Given the description of an element on the screen output the (x, y) to click on. 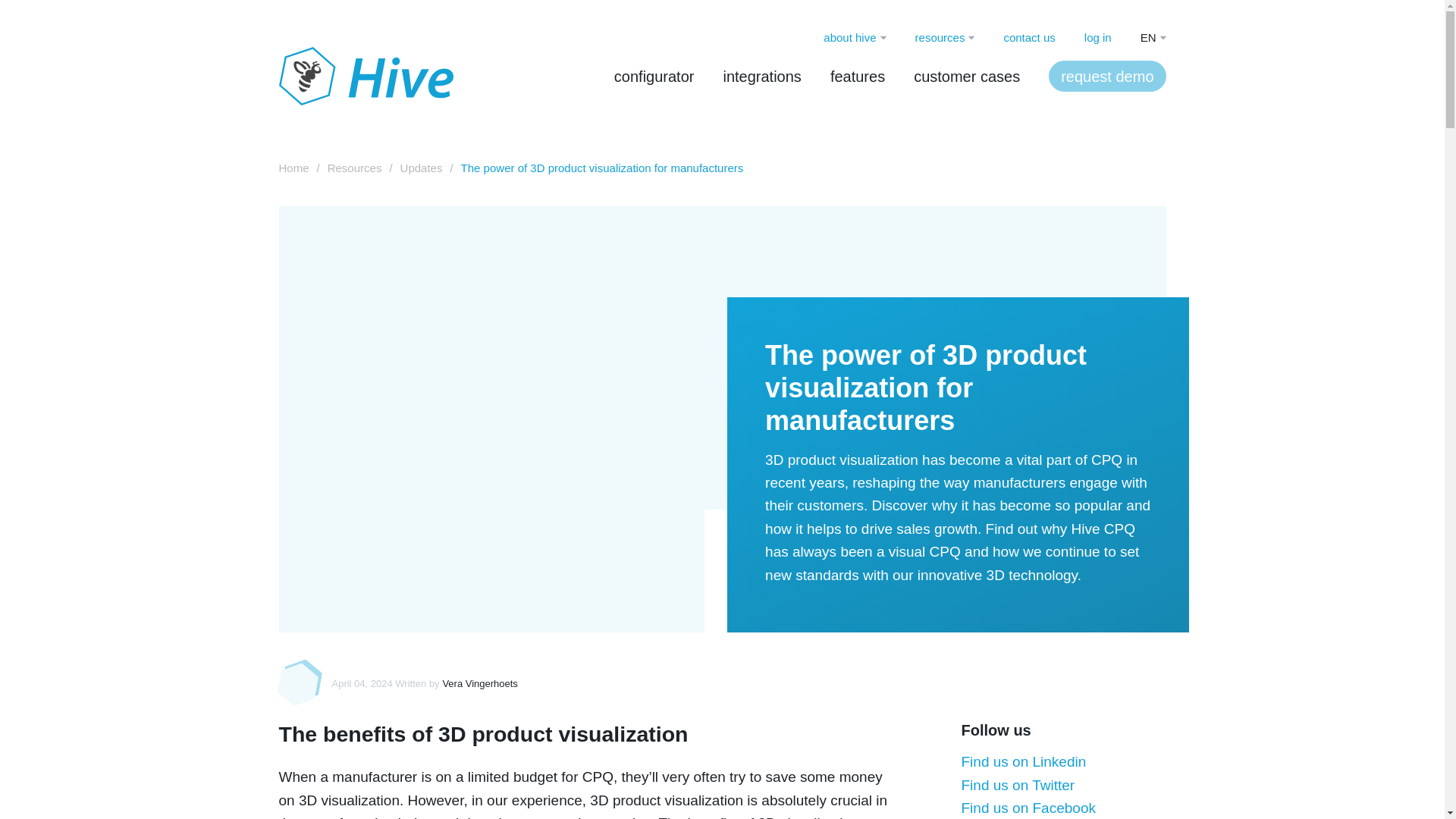
Find us on Facebook (1028, 807)
Find us on Twitter (1017, 784)
Home (293, 167)
contact us (1028, 37)
log in (1098, 37)
Find us on Linkedin (1023, 762)
configurator (654, 75)
Resources (354, 167)
request demo (1107, 76)
Updates (421, 167)
